Given the description of an element on the screen output the (x, y) to click on. 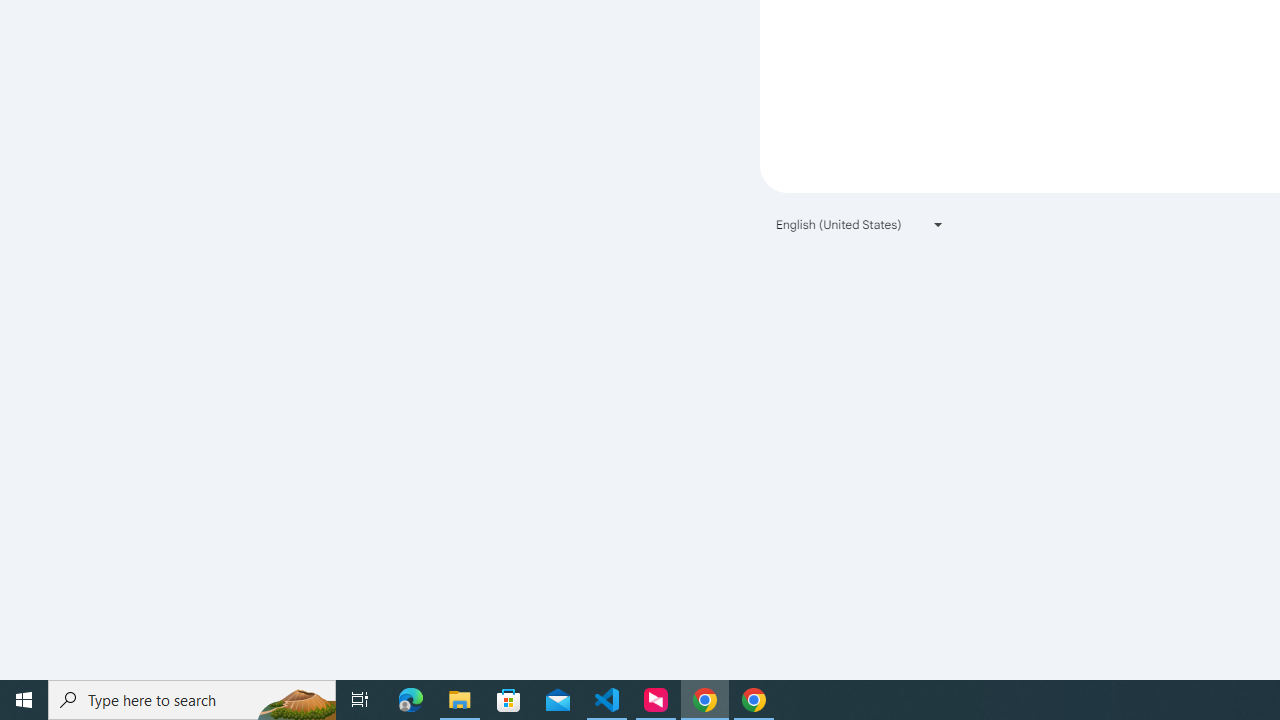
English (United States) (860, 224)
